Given the description of an element on the screen output the (x, y) to click on. 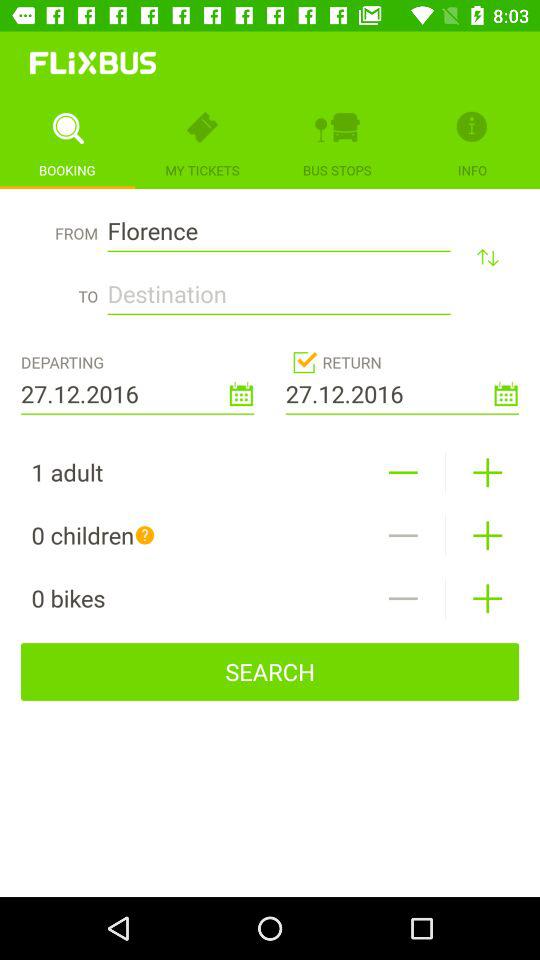
remove item (402, 535)
